Given the description of an element on the screen output the (x, y) to click on. 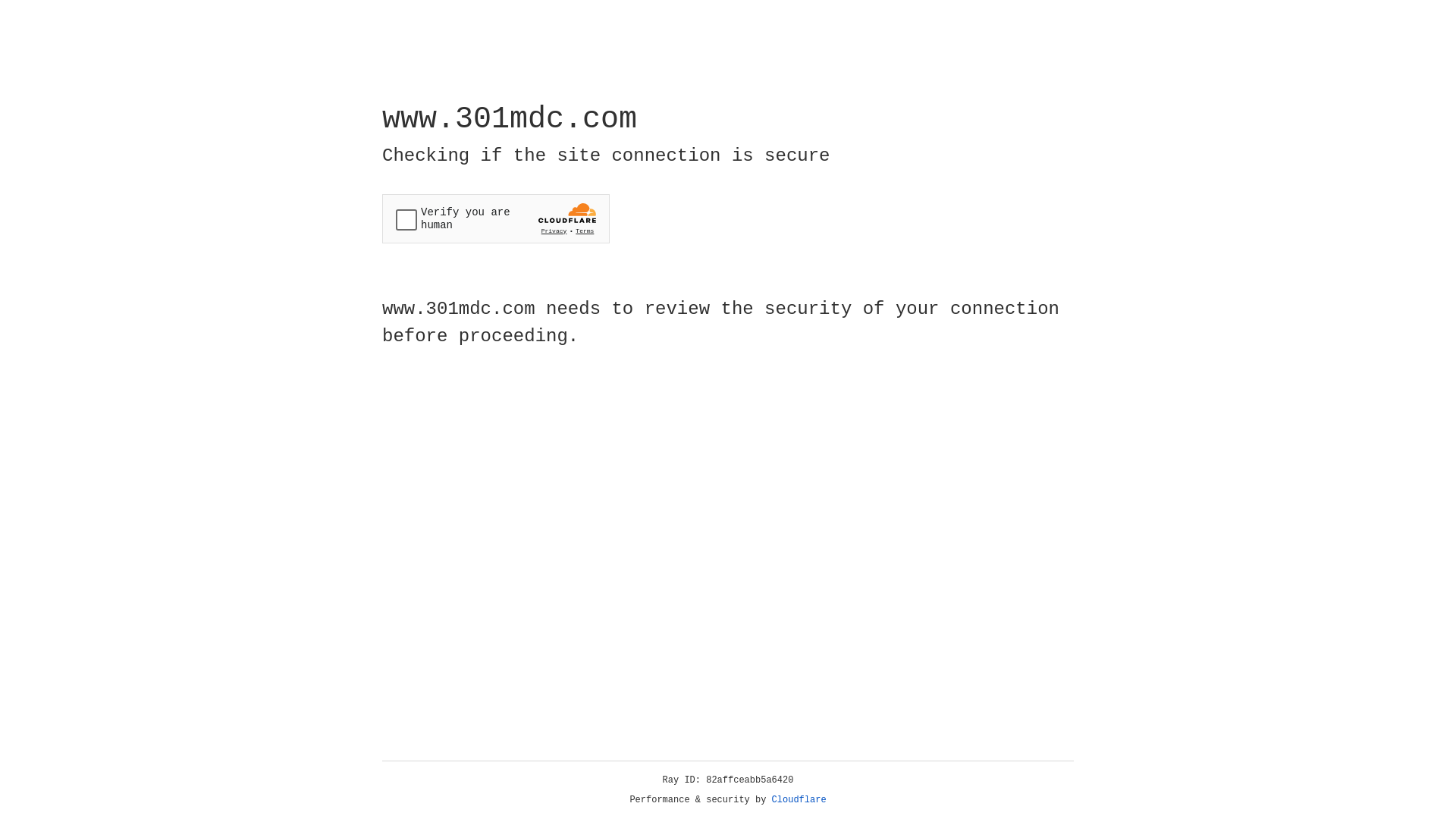
Cloudflare Element type: text (798, 799)
Widget containing a Cloudflare security challenge Element type: hover (495, 218)
